Given the description of an element on the screen output the (x, y) to click on. 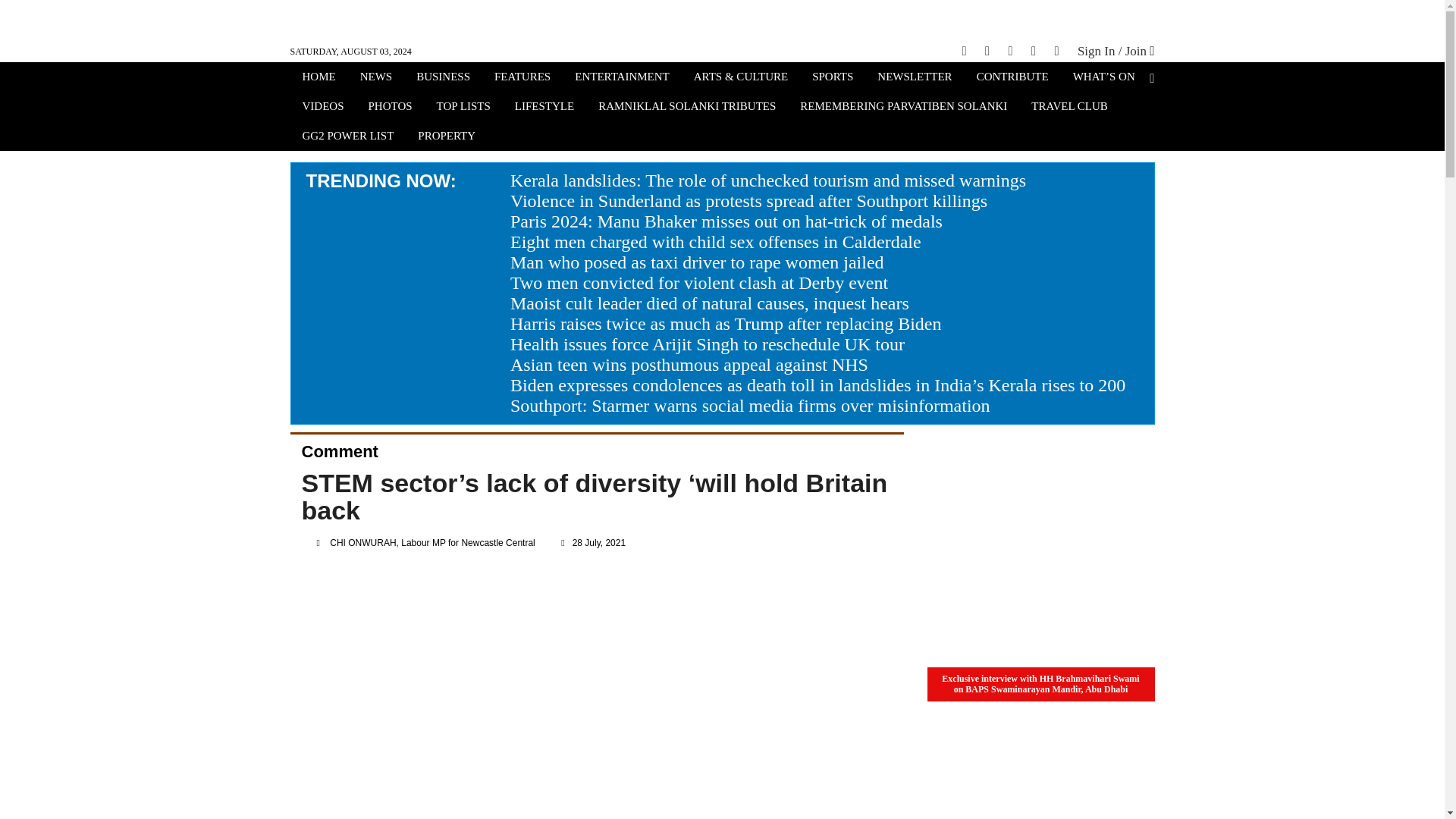
PHOTOS (390, 108)
NEWS (375, 78)
PROPERTY (446, 137)
Paris 2024: Manu Bhaker misses out on hat-trick of medals (726, 220)
HOME (317, 78)
SPORTS (832, 78)
RAMNIKLAL SOLANKI TRIBUTES (686, 108)
Eight men charged with child sex offenses in Calderdale (716, 241)
CONTRIBUTE (1012, 78)
Man who posed as taxi driver to rape women jailed (697, 261)
Maoist cult leader died of natural causes, inquest hears (709, 302)
VIDEOS (322, 108)
REMEMBERING PARVATIBEN SOLANKI (903, 108)
Two men convicted for violent clash at Derby event (699, 282)
